Given the description of an element on the screen output the (x, y) to click on. 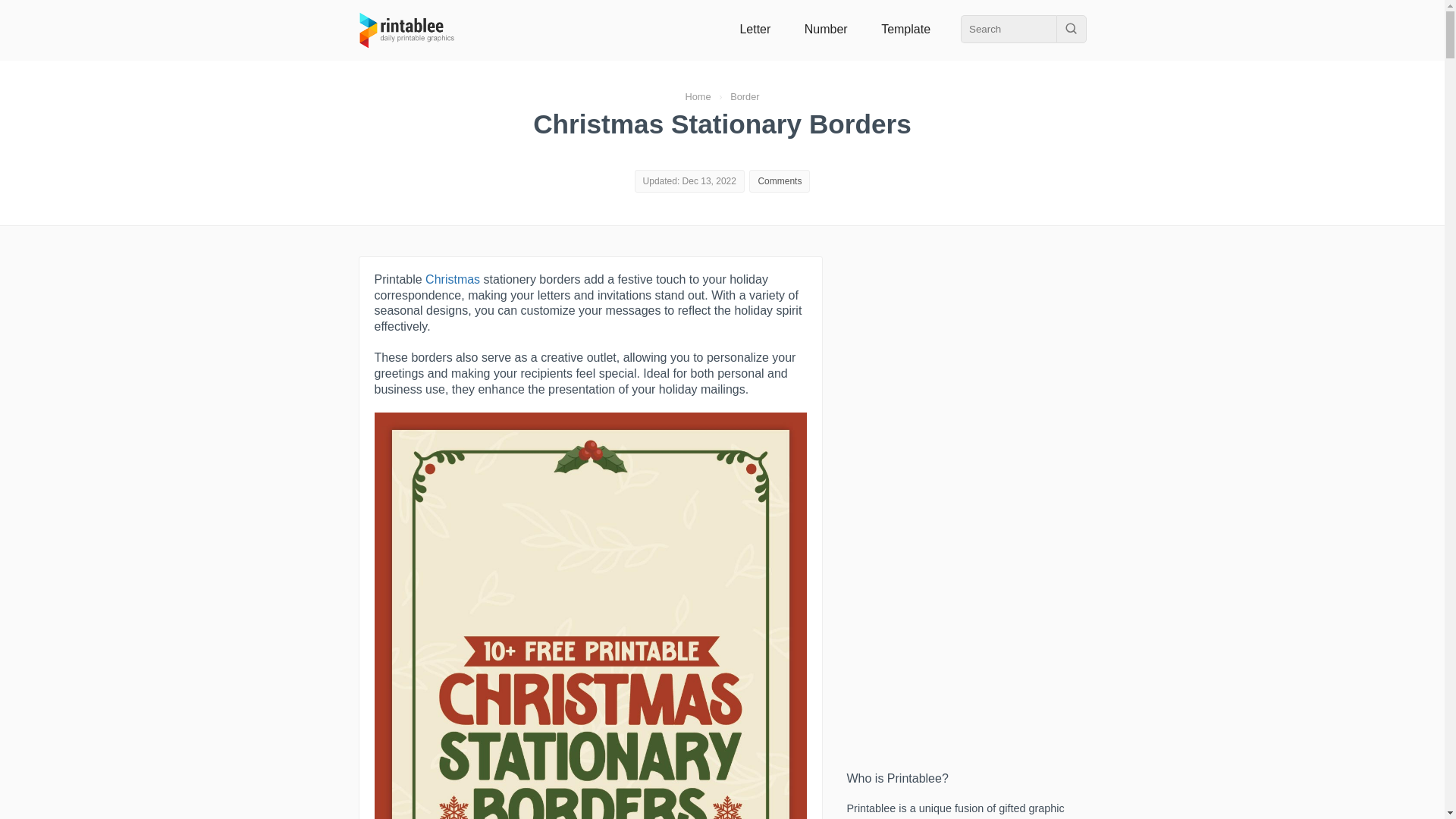
Printable Letter Category (754, 29)
Letter (754, 29)
Comments (779, 181)
Printable Number Category (826, 29)
Border (744, 96)
Printable Template Category (905, 29)
Number (826, 29)
Template (905, 29)
Home (697, 96)
Christmas (452, 278)
